Given the description of an element on the screen output the (x, y) to click on. 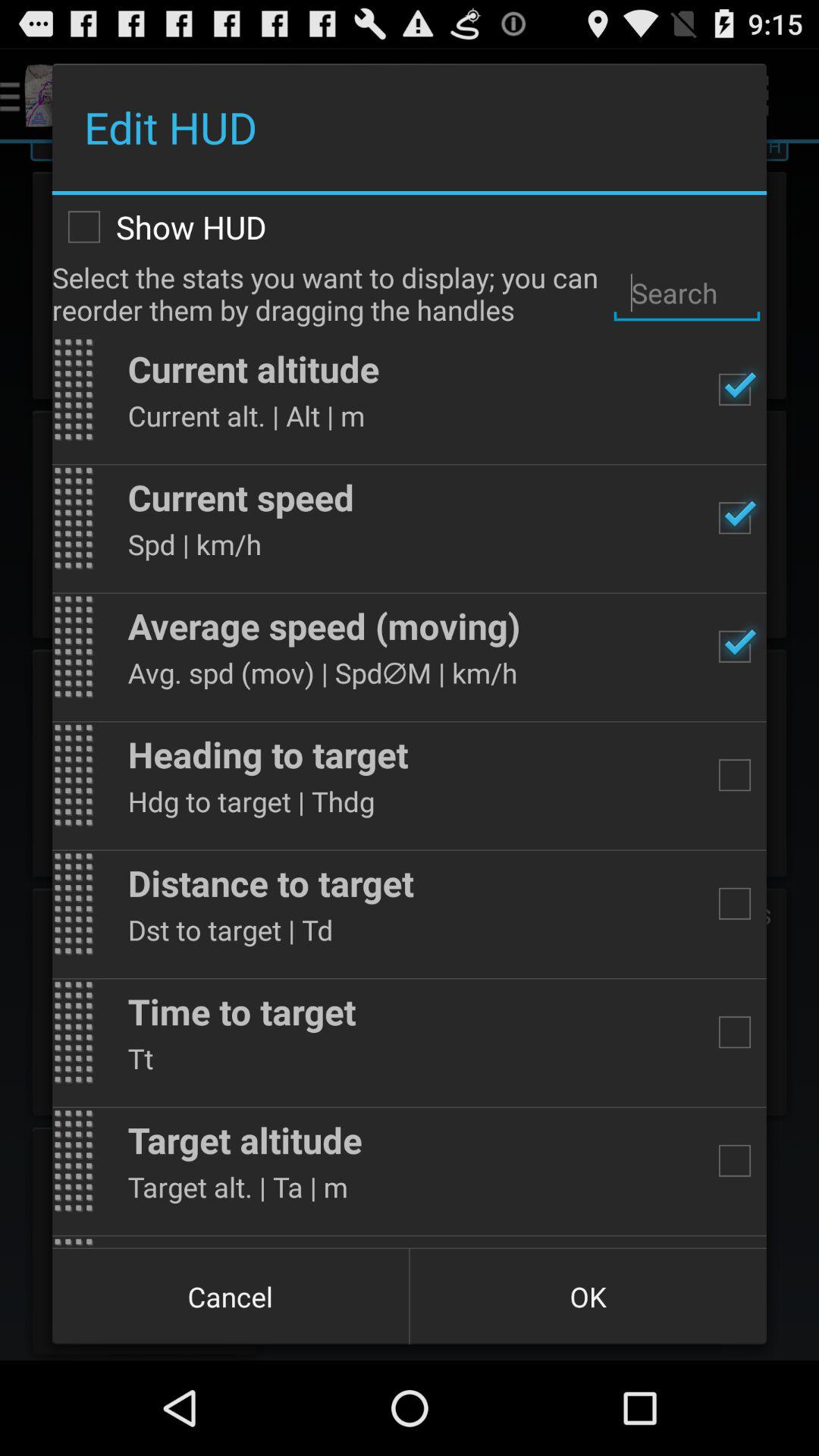
launch the app above select the stats item (409, 226)
